Given the description of an element on the screen output the (x, y) to click on. 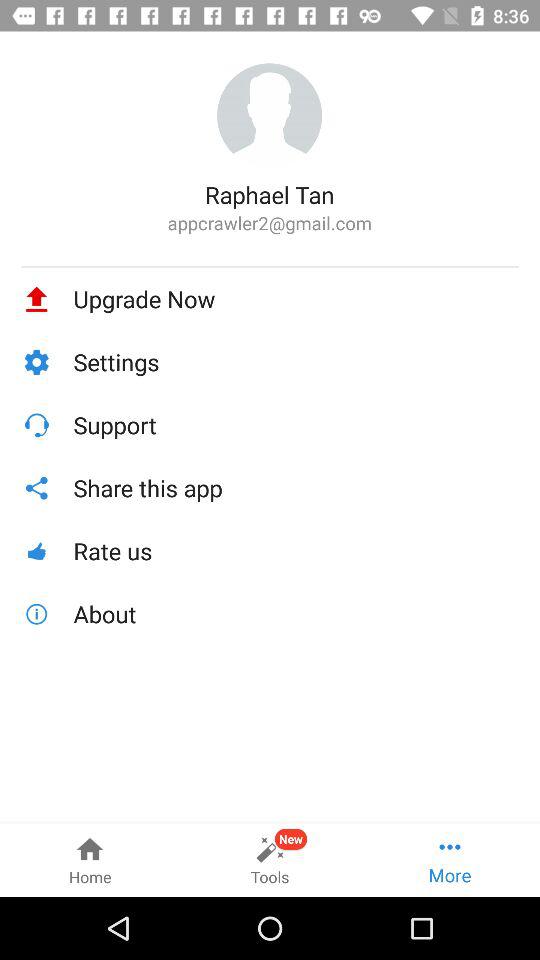
select icon above the about (296, 550)
